Given the description of an element on the screen output the (x, y) to click on. 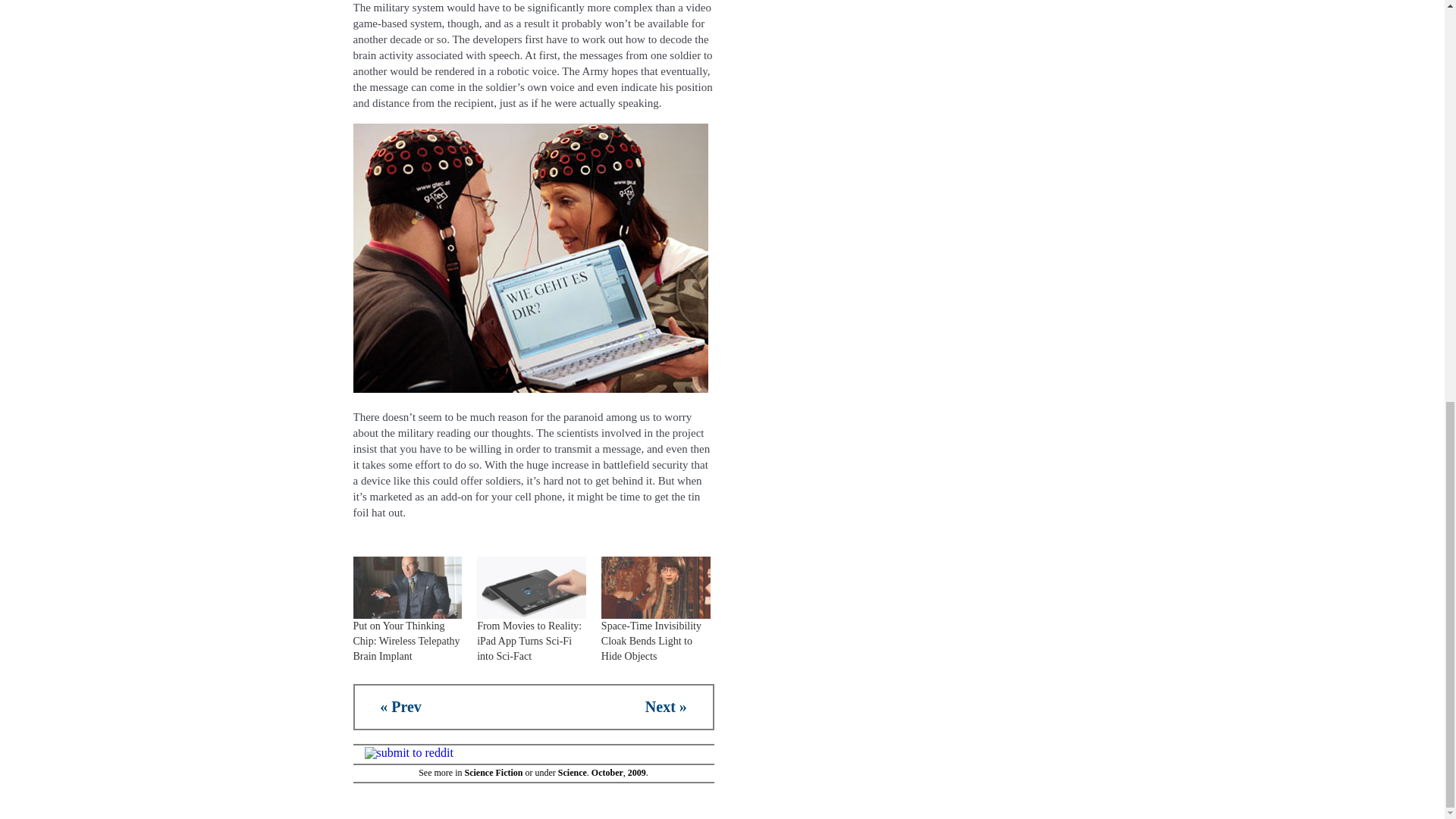
Space-Time Invisibility Cloak Bends Light to Hide Objects (651, 640)
Put on Your Thinking Chip: Wireless Telepathy Brain Implant (406, 640)
Put on Your Thinking Chip: Wireless Telepathy Brain Implant (408, 587)
October (607, 772)
Science Fiction (493, 772)
tweeting with brainwaves (530, 258)
Science (571, 772)
2009 (636, 772)
From Movies to Reality: iPad App Turns Sci-Fi into Sci-Fact (528, 640)
Put on Your Thinking Chip: Wireless Telepathy Brain Implant (406, 640)
